Given the description of an element on the screen output the (x, y) to click on. 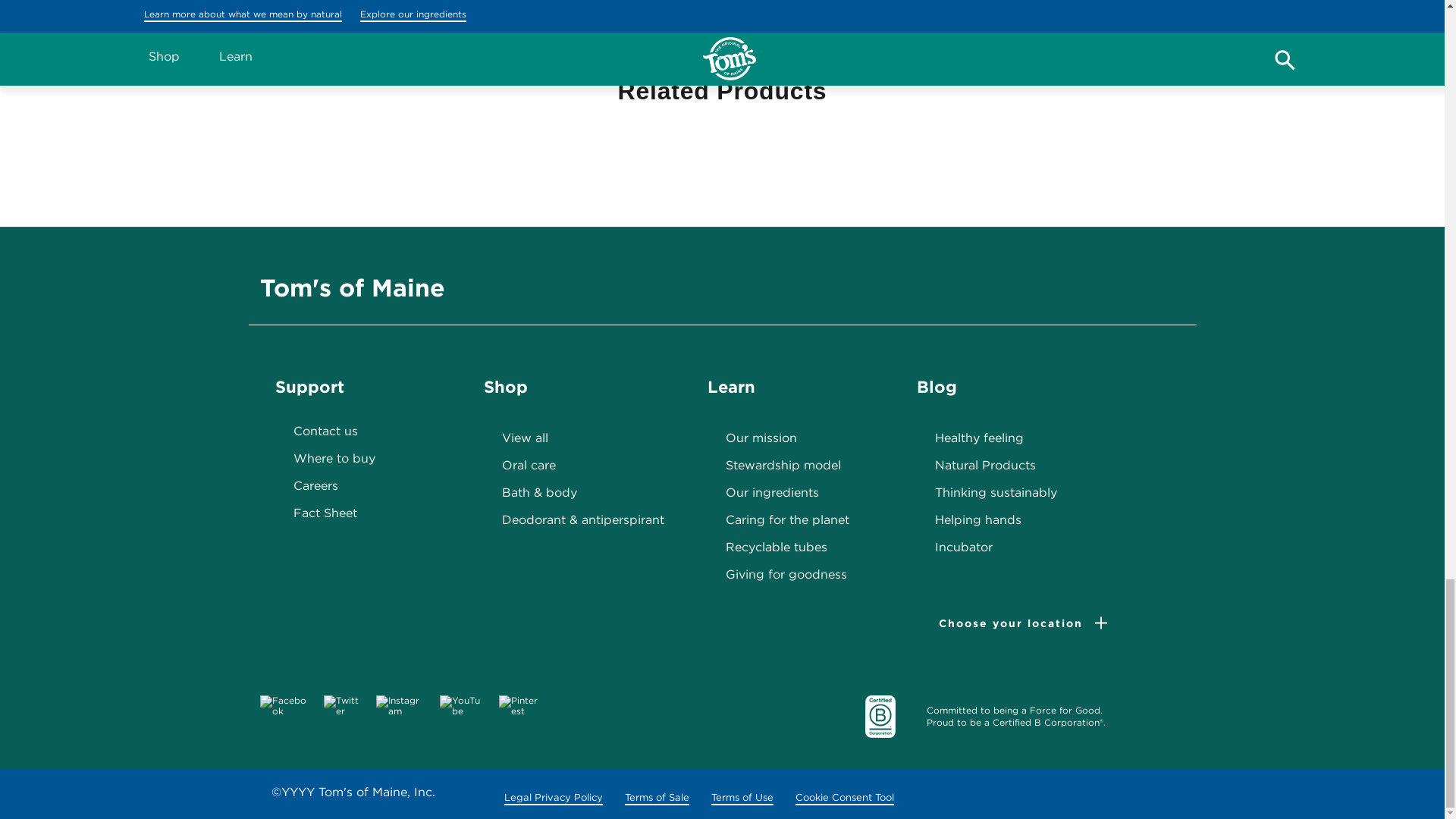
Twitter (333, 705)
Facebook (282, 705)
Instagram (390, 705)
Choose your location (1011, 623)
